Given the description of an element on the screen output the (x, y) to click on. 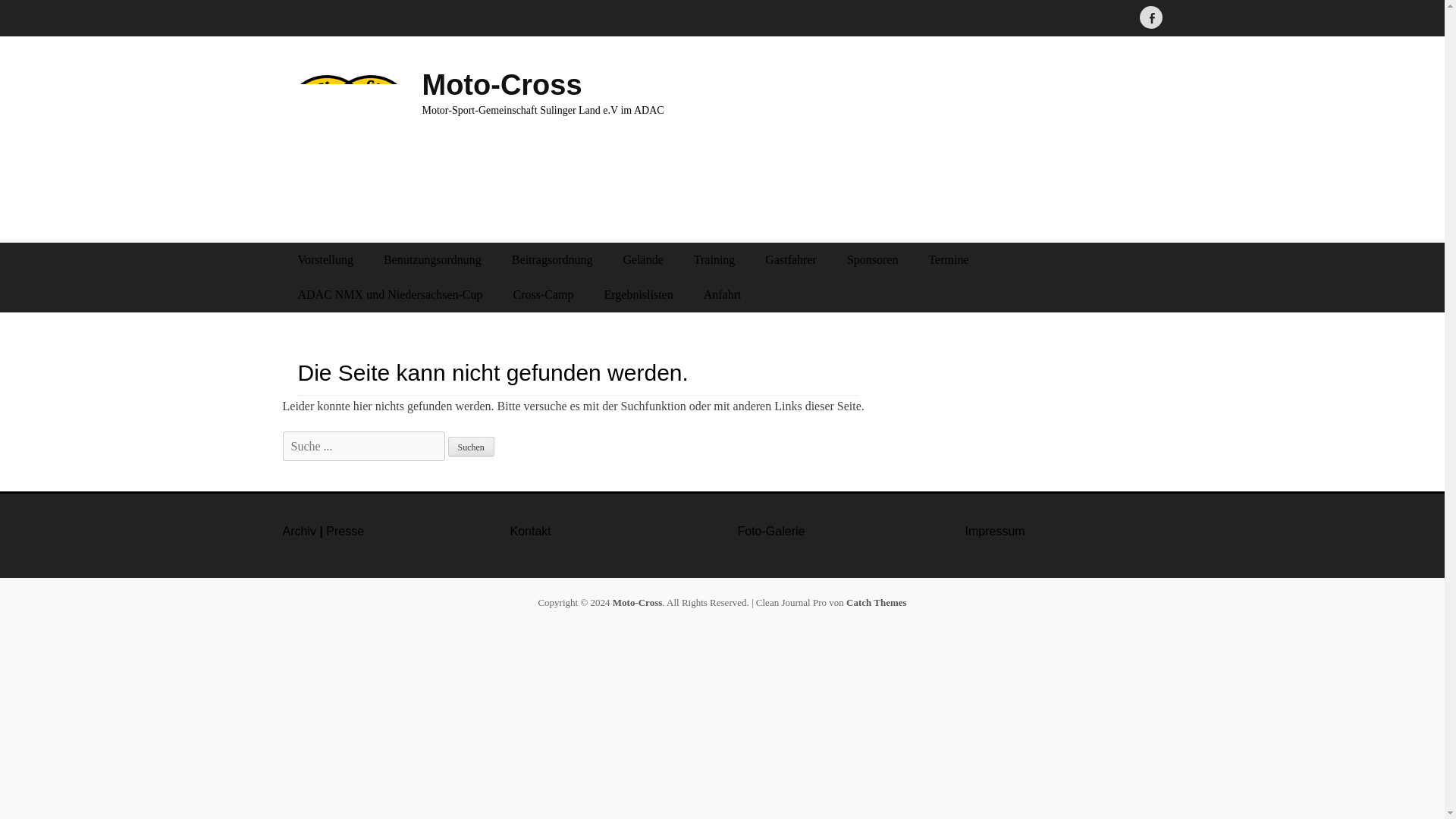
Suchen (469, 446)
Gastfahrer (790, 259)
Foto-Galerie (770, 530)
Beitragsordnung (552, 259)
Benutzungsordnung (432, 259)
Moto-Cross (501, 84)
Termine (948, 259)
Ergebnislisten (637, 294)
Suchen (469, 446)
Suche nach: (363, 446)
